Given the description of an element on the screen output the (x, y) to click on. 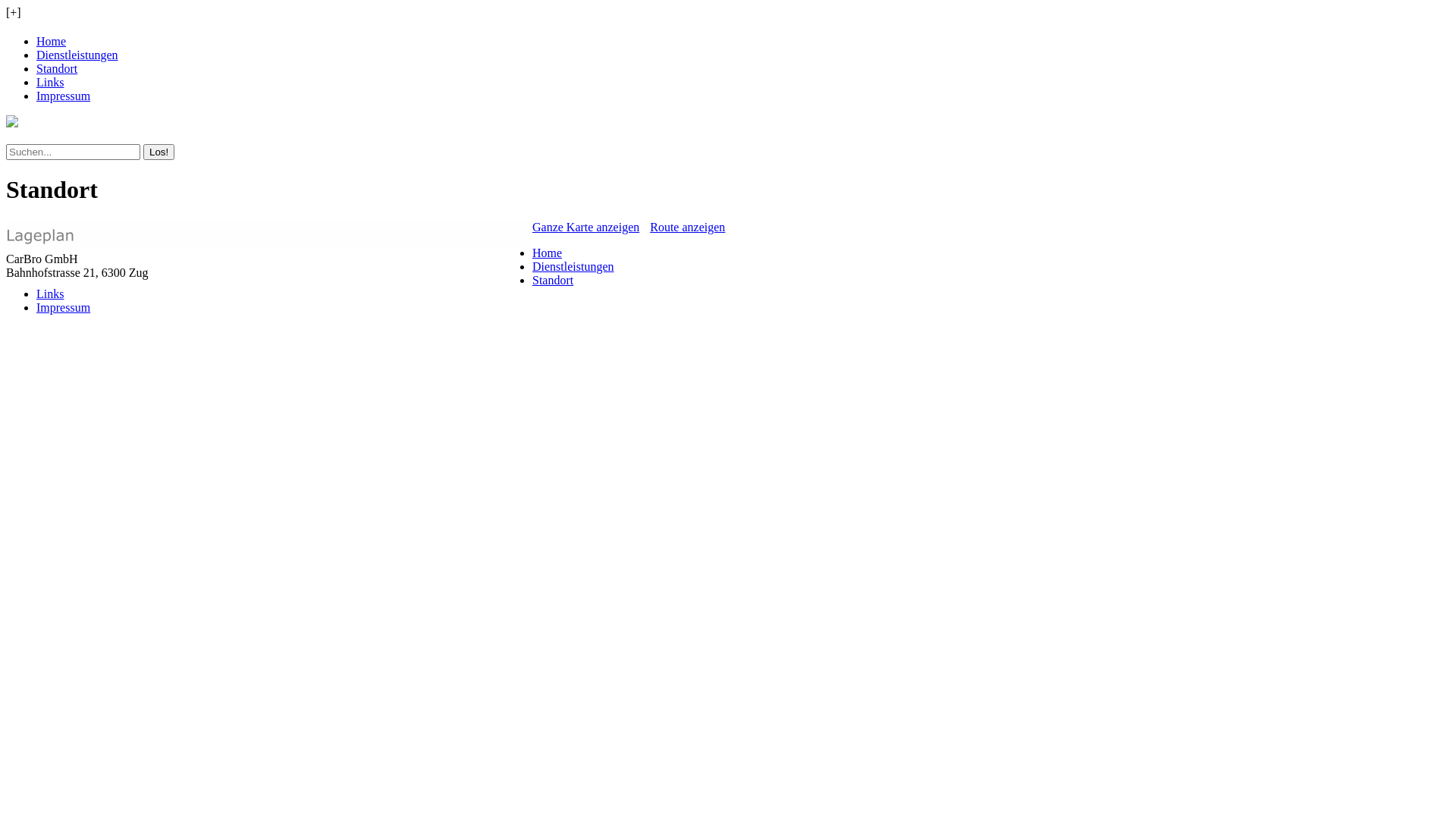
Links Element type: text (49, 293)
Links Element type: text (49, 81)
Ganze Karte anzeigen Element type: text (585, 226)
Dienstleistungen Element type: text (77, 54)
Route anzeigen Element type: text (686, 226)
Los! Element type: text (158, 152)
Impressum Element type: text (63, 307)
Standort Element type: text (56, 68)
Impressum Element type: text (63, 95)
Standort Element type: text (552, 279)
Home Element type: text (50, 40)
Dienstleistungen Element type: text (573, 266)
Home Element type: text (546, 252)
